Given the description of an element on the screen output the (x, y) to click on. 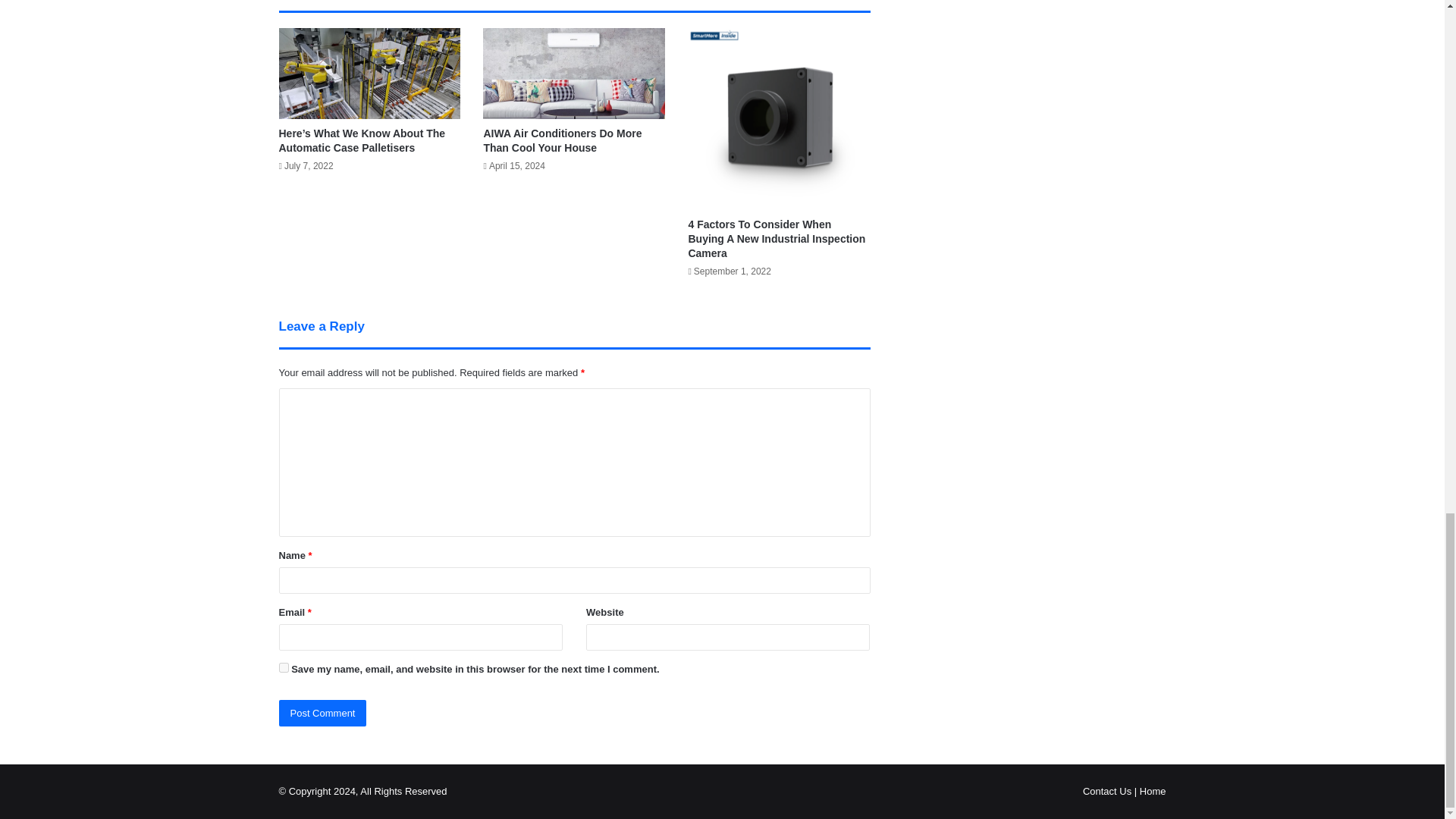
AIWA Air Conditioners Do More Than Cool Your House (562, 140)
Post Comment (322, 713)
yes (283, 667)
